Given the description of an element on the screen output the (x, y) to click on. 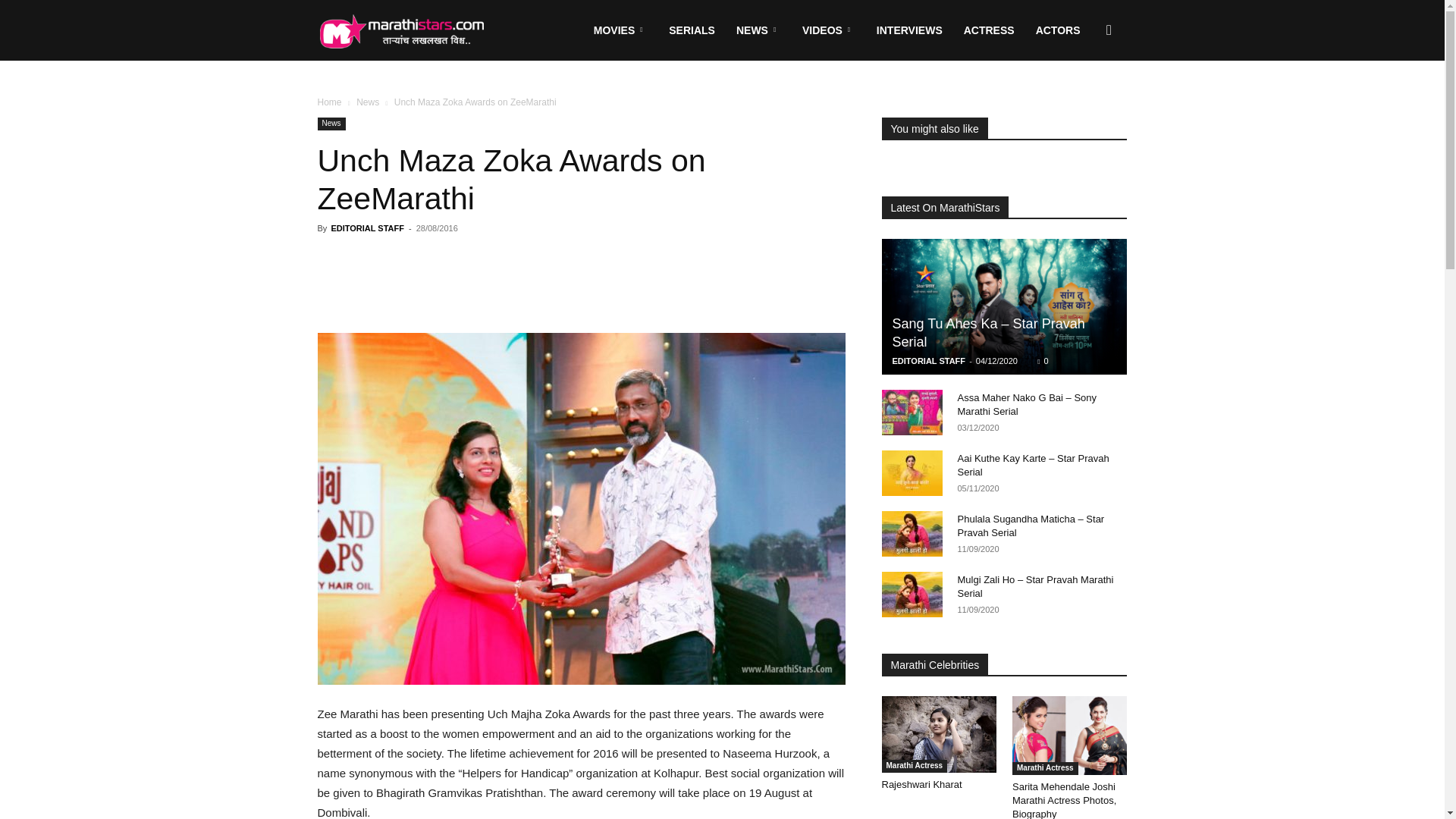
MOVIES (620, 30)
MarathiStars (400, 30)
Search (1085, 102)
